Given the description of an element on the screen output the (x, y) to click on. 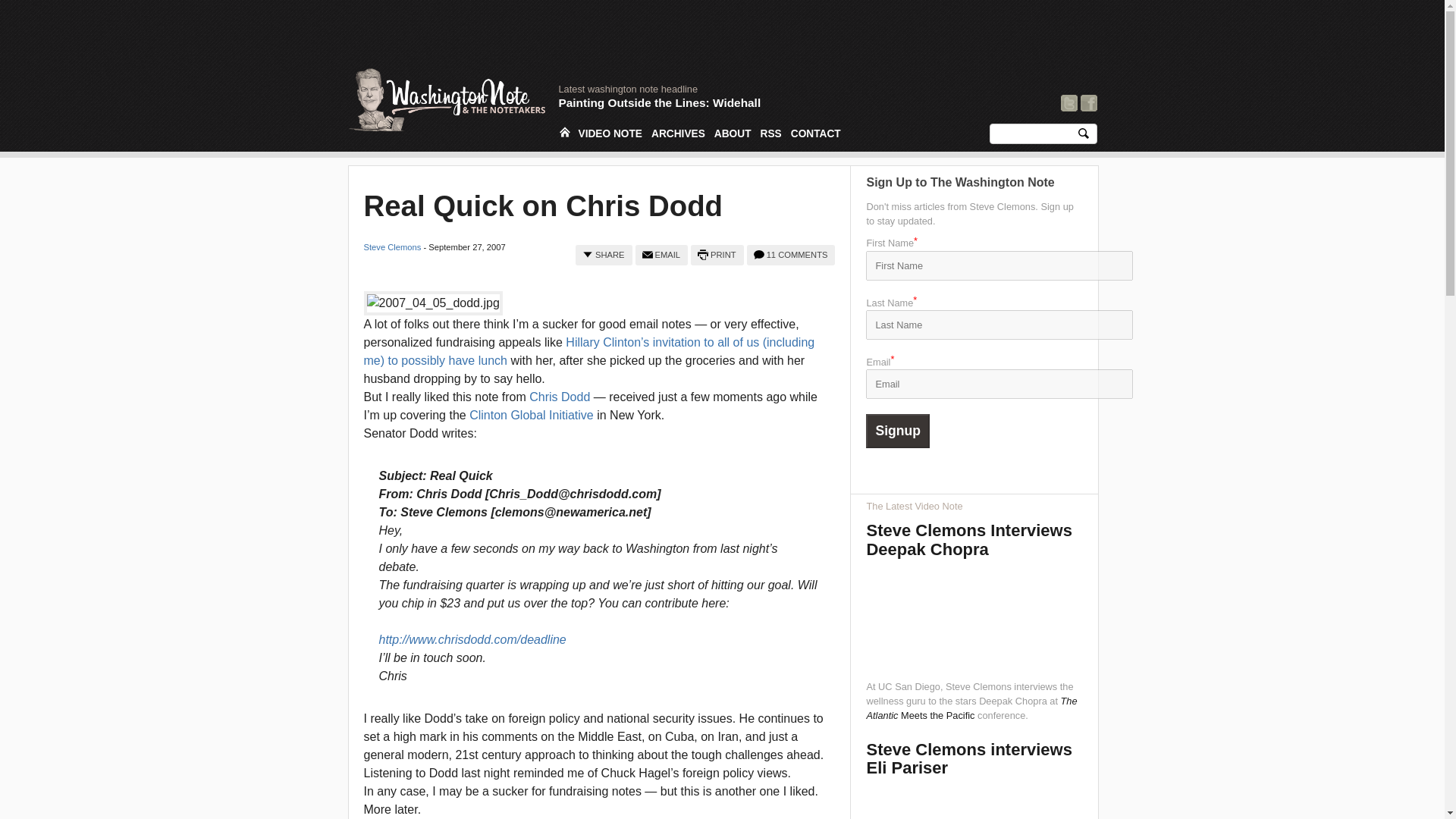
Signup (898, 430)
Clinton Global Initiative (531, 414)
Print this page (717, 254)
Find Steve Clemons on Facebook (1088, 101)
The Atlantic Meets the Pacific (971, 708)
ARCHIVES (677, 133)
Painting Outside the Lines: Widehall (658, 102)
SHARE (603, 254)
Search (1083, 136)
Follow Steve Clemons on Twitter (1069, 101)
11 COMMENTS (790, 254)
PRINT (717, 254)
View all posts by Steve Clemons (393, 246)
EMAIL (661, 254)
CONTACT (815, 133)
